Given the description of an element on the screen output the (x, y) to click on. 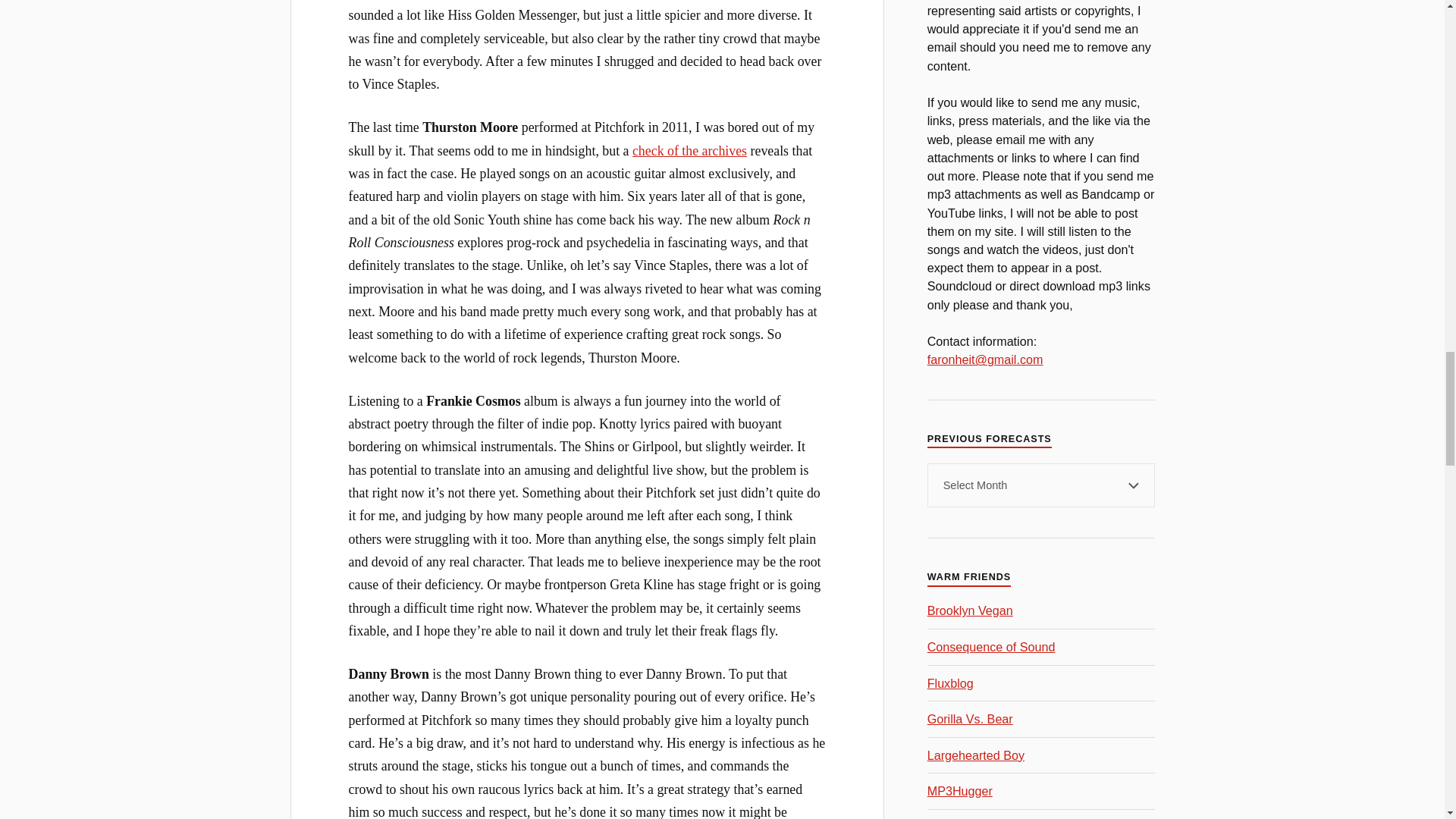
Links and downloads galore (976, 755)
The first-ever music blog (950, 683)
My goal is to turn him into Brooklyn Meateater (970, 610)
Music news and festival rumors (991, 646)
The bear would totally win (970, 718)
check of the archives (688, 150)
